Given the description of an element on the screen output the (x, y) to click on. 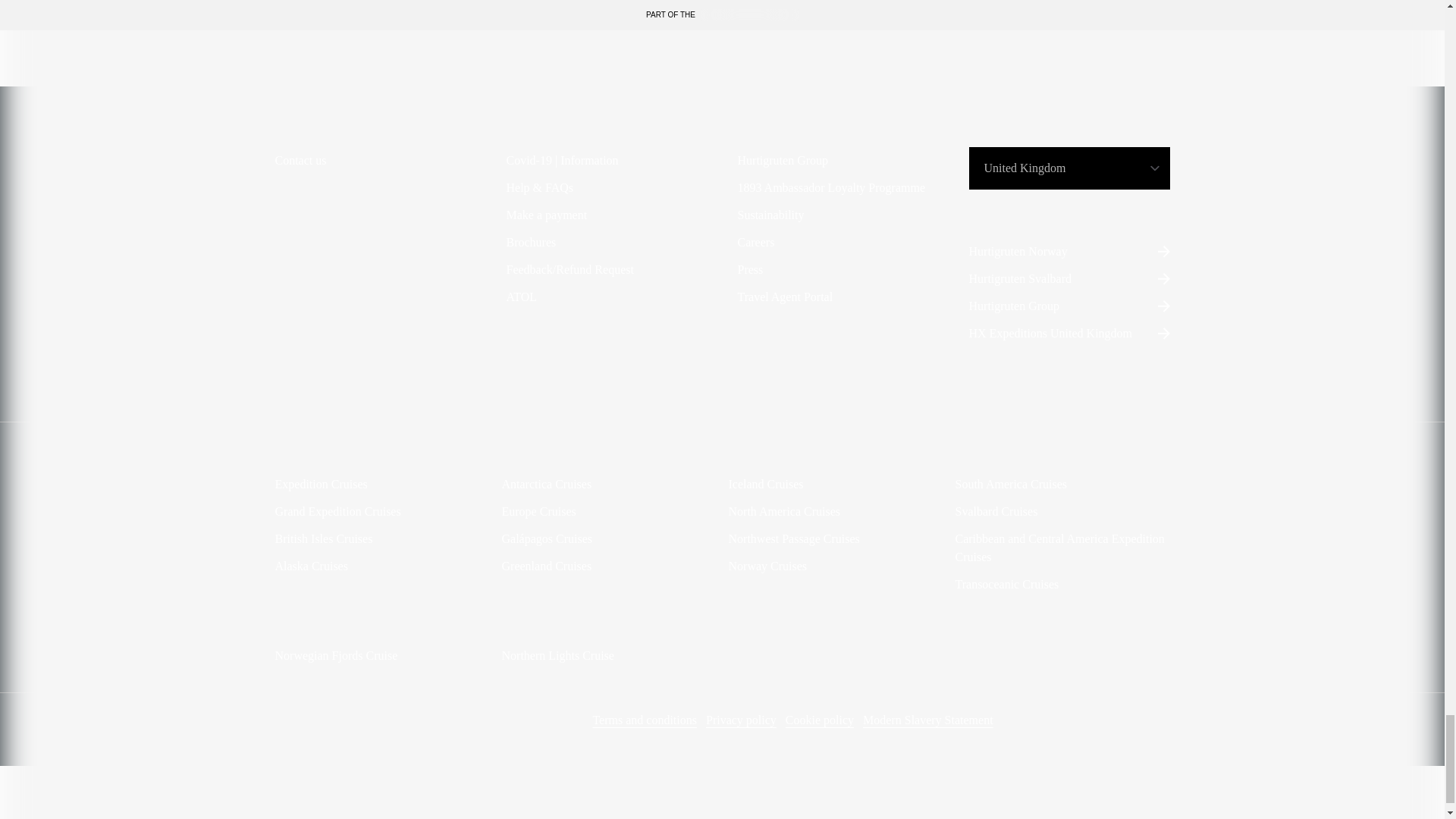
Hurtigruten Group (1069, 306)
Careers (755, 242)
Alaska Cruises (311, 566)
ATOL (521, 297)
Brochures (531, 242)
Contact us (300, 160)
British Isles Cruises (323, 538)
Hurtigruten Norway (1069, 251)
Europe Cruises (539, 511)
1893 Ambassador Loyalty Programme (830, 188)
